Given the description of an element on the screen output the (x, y) to click on. 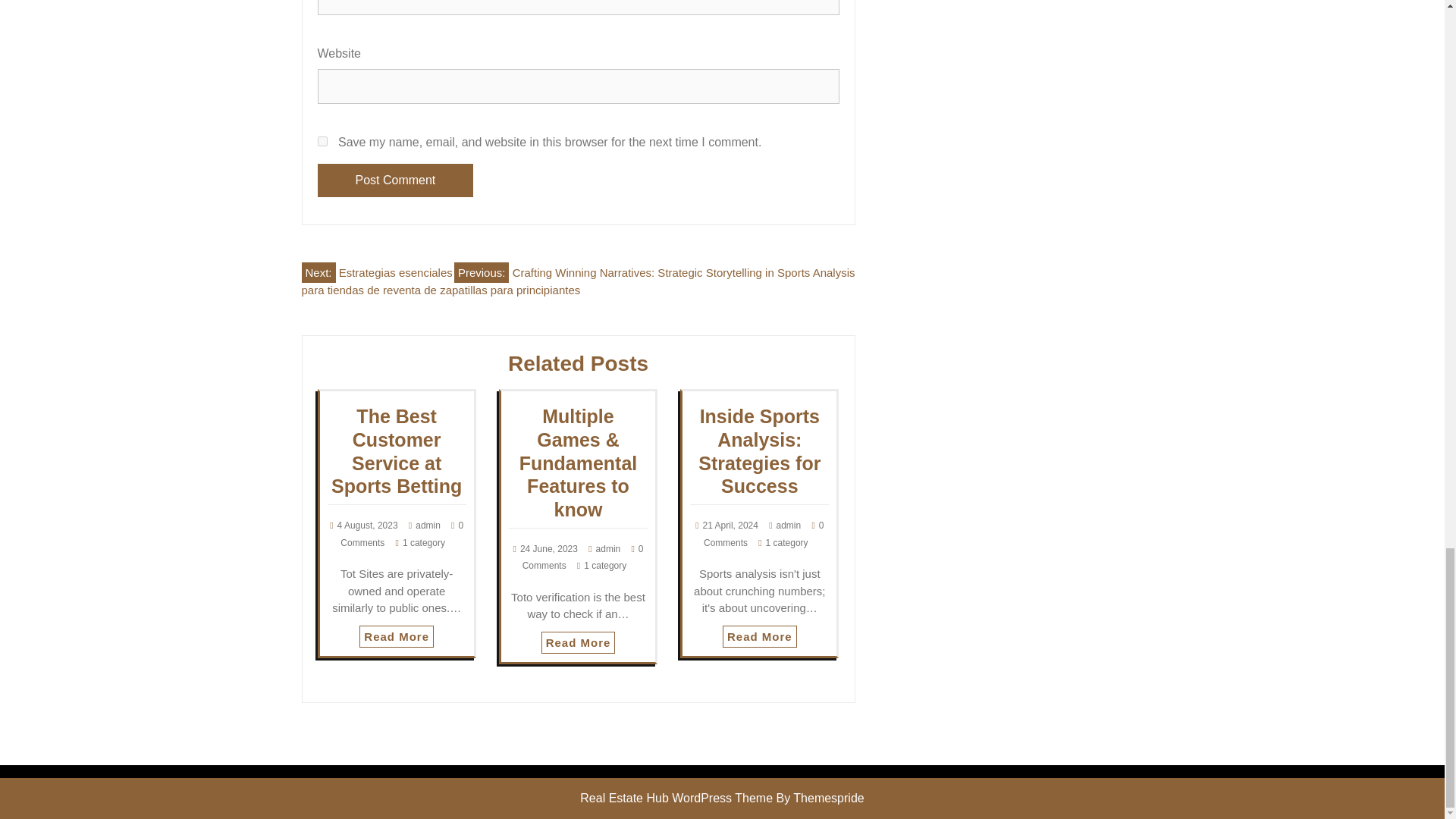
Inside Sports Analysis: Strategies for Success (759, 450)
Read More (396, 636)
Read More (396, 636)
Read More (578, 642)
Read More (759, 636)
Inside Sports Analysis: Strategies for Success (759, 450)
The Best Customer Service at Sports Betting (396, 450)
Read More (759, 636)
yes (321, 141)
The Best Customer Service at Sports Betting (396, 450)
Post Comment (395, 180)
Read More (578, 642)
Post Comment (395, 180)
